Given the description of an element on the screen output the (x, y) to click on. 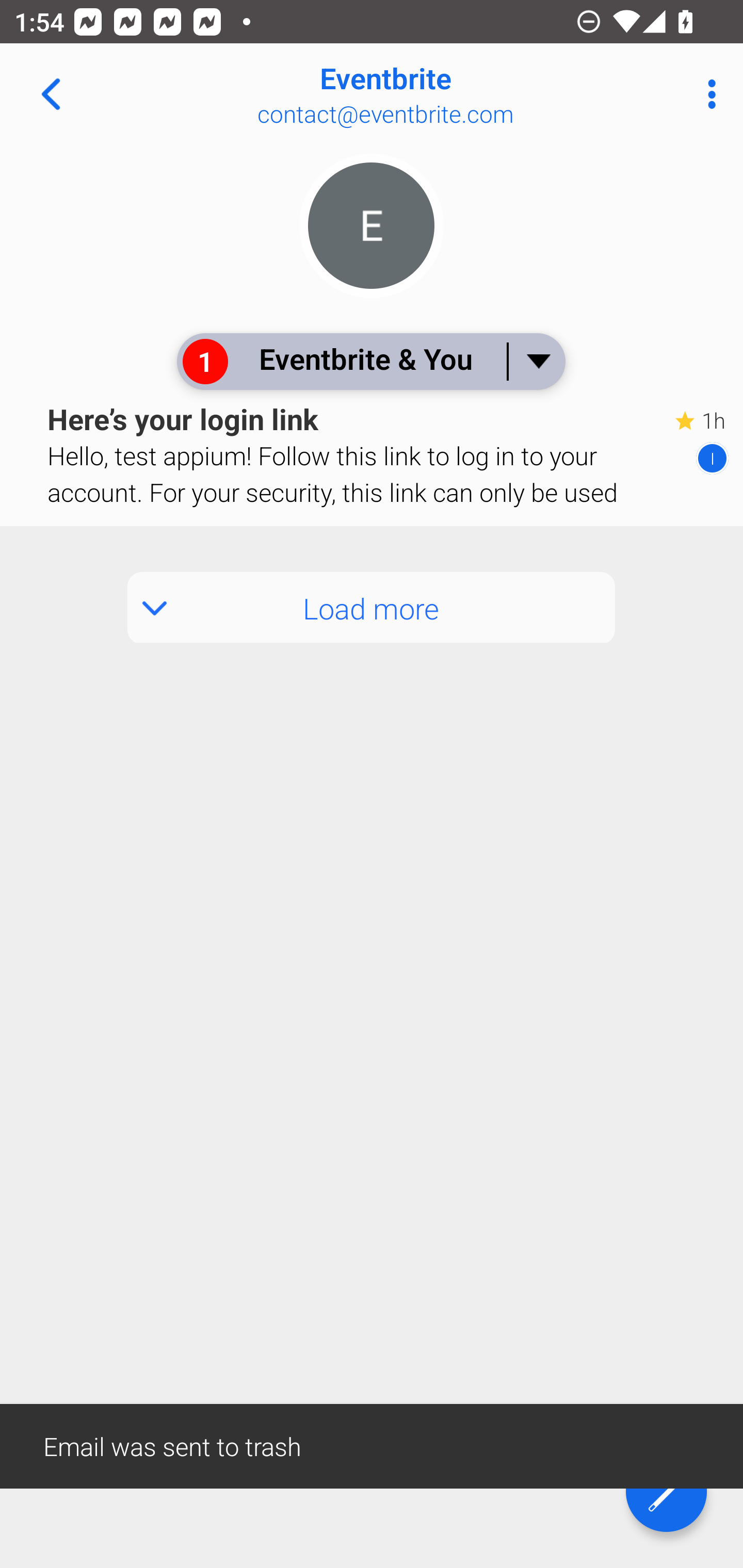
Navigate up (50, 93)
Eventbrite contact@eventbrite.com (436, 93)
More Options (706, 93)
1 Eventbrite & You (370, 361)
Load more (371, 607)
Email was sent to trash (371, 1445)
